Given the description of an element on the screen output the (x, y) to click on. 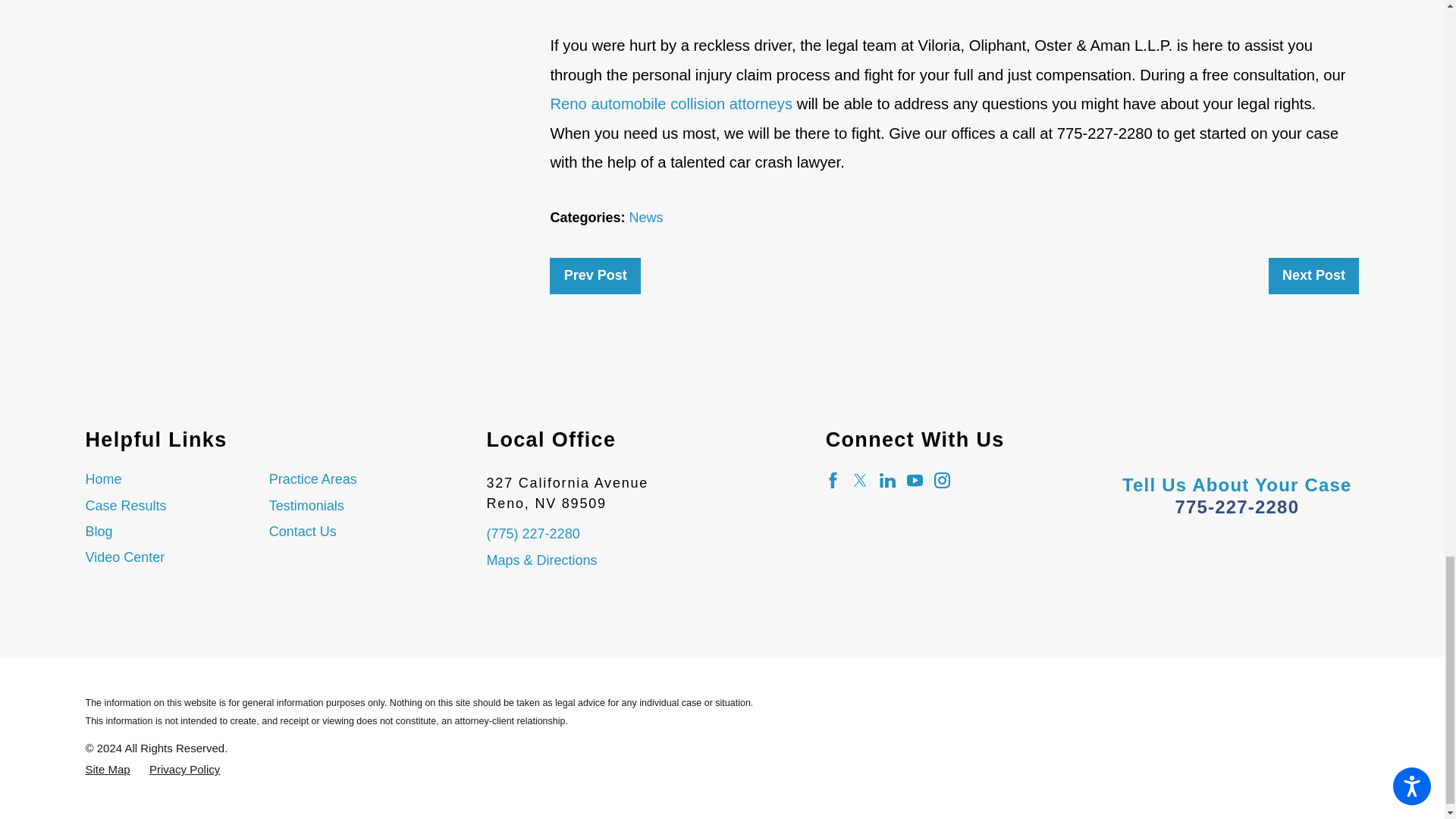
Facebook (833, 480)
YouTube (915, 480)
Instagram (942, 480)
LinkedIn (887, 480)
Twitter (859, 480)
